Given the description of an element on the screen output the (x, y) to click on. 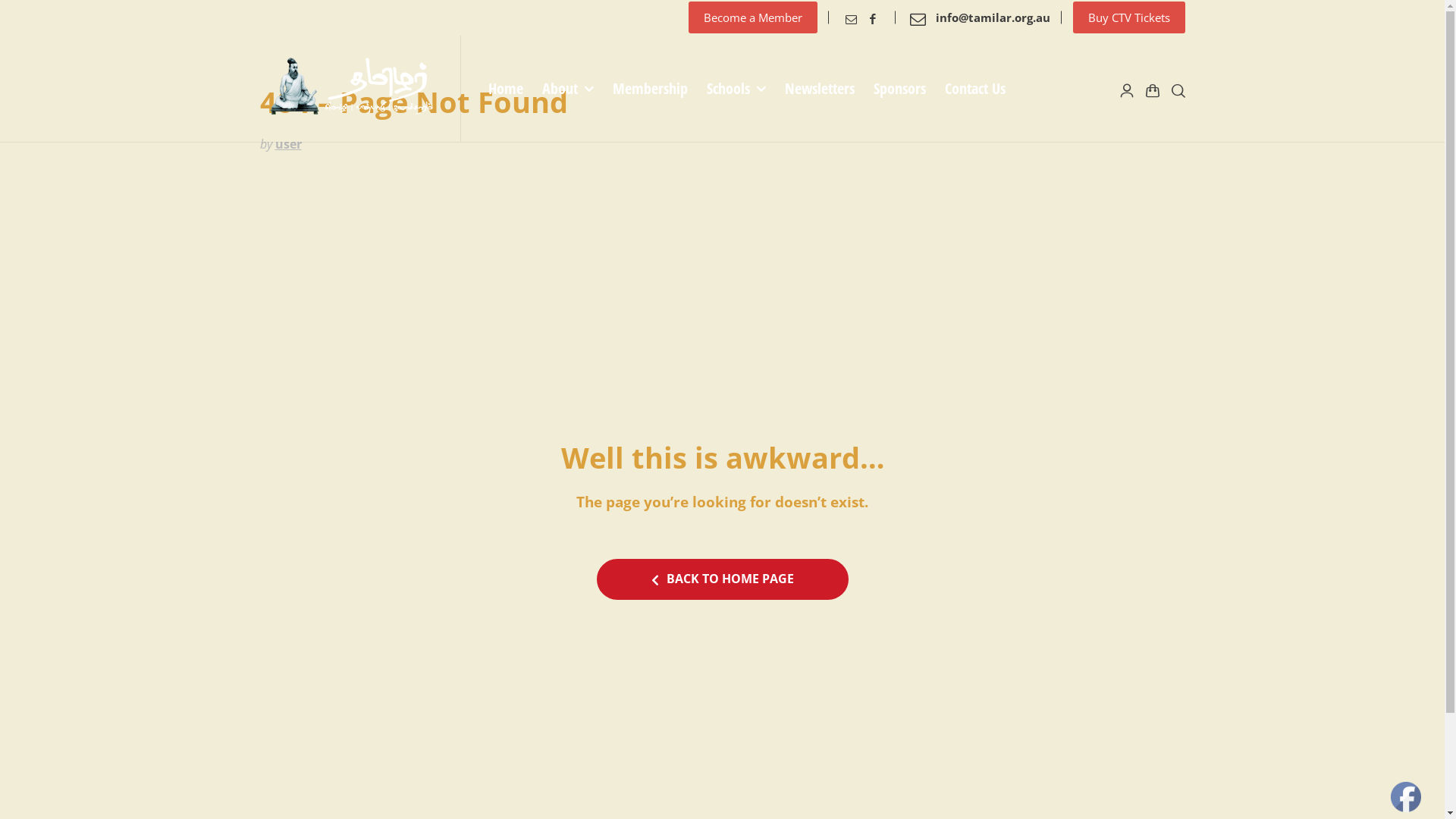
Buy CTV Tickets Element type: text (1128, 17)
Membership Element type: text (650, 88)
user Element type: text (287, 143)
Sponsors Element type: text (899, 88)
Contact Us Element type: text (975, 88)
About Element type: text (567, 88)
Tamilar Inc. Element type: hover (350, 88)
Schools Element type: text (736, 88)
Home Element type: text (506, 88)
info@tamilar.org.au Element type: text (992, 17)
Become a Member Element type: text (752, 17)
Search Element type: hover (1174, 89)
Email Element type: hover (851, 18)
Newsletters Element type: text (819, 88)
Facebook Element type: hover (873, 18)
Facebook Element type: hover (1405, 796)
BACK TO HOME PAGE Element type: text (721, 578)
